Given the description of an element on the screen output the (x, y) to click on. 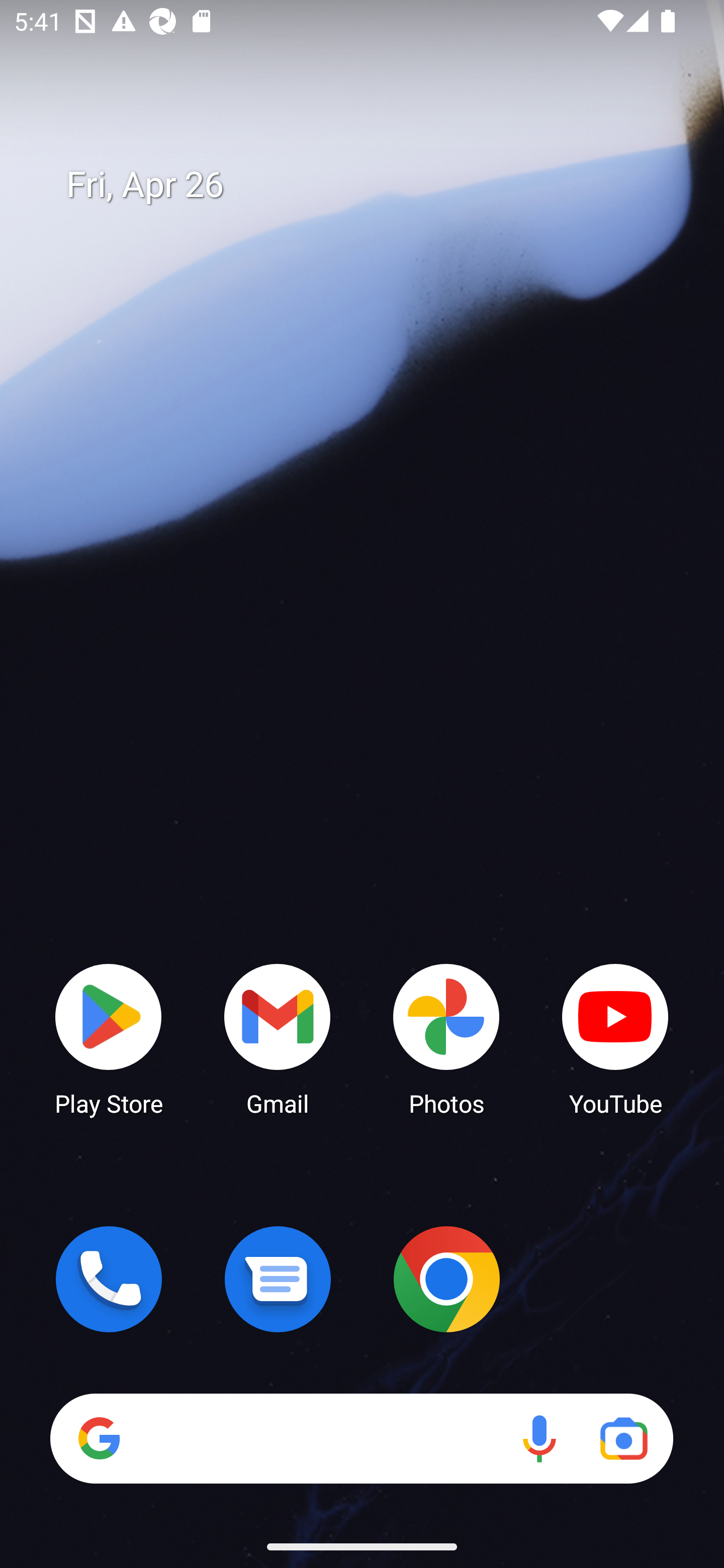
Fri, Apr 26 (375, 184)
Play Store (108, 1038)
Gmail (277, 1038)
Photos (445, 1038)
YouTube (615, 1038)
Phone (108, 1279)
Messages (277, 1279)
Chrome (446, 1279)
Search Voice search Google Lens (361, 1438)
Voice search (539, 1438)
Google Lens (623, 1438)
